Given the description of an element on the screen output the (x, y) to click on. 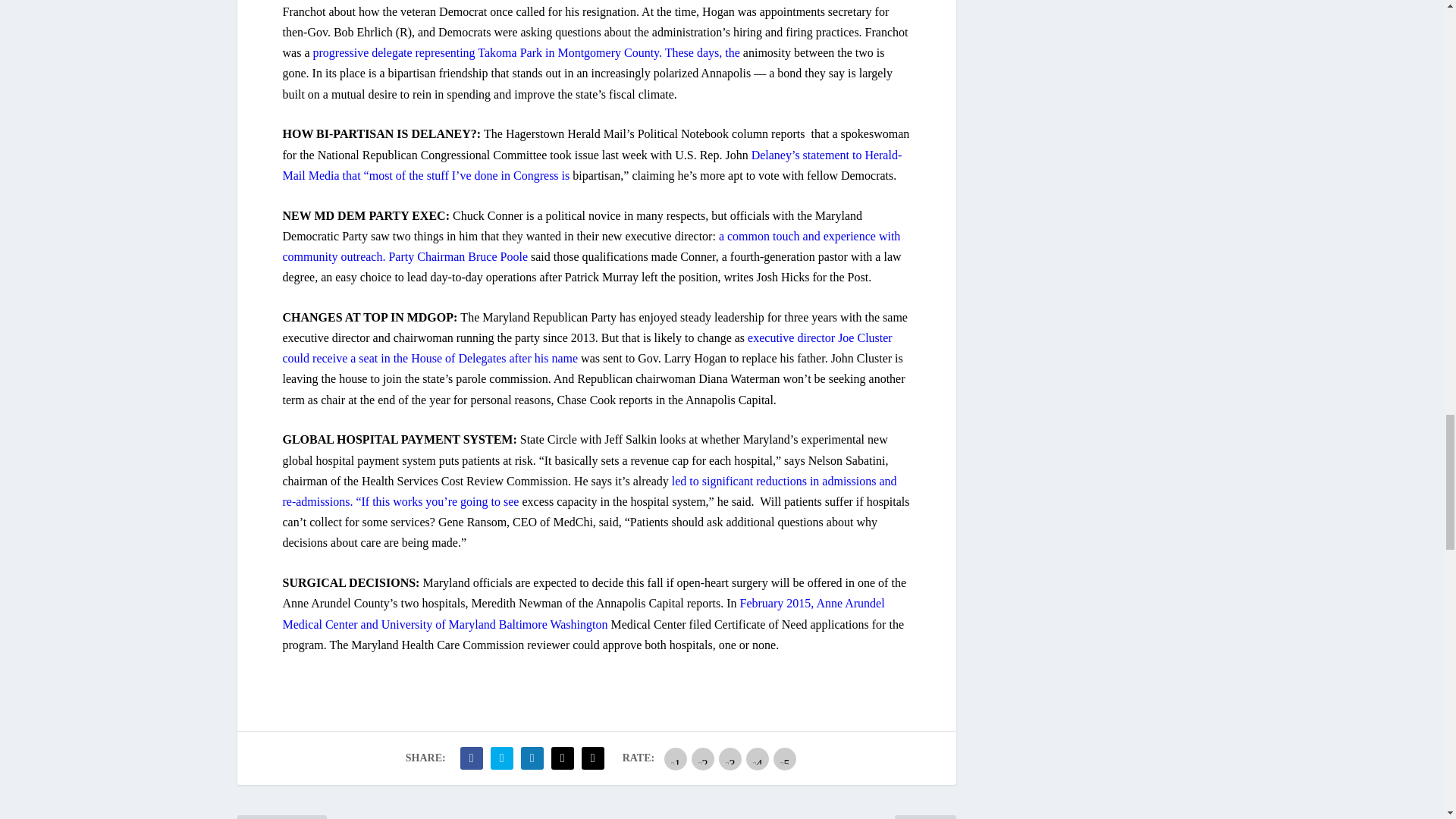
Share "State Roundup, August 15, 2016" via Email (562, 757)
regular (730, 758)
bad (675, 758)
gorgeous (784, 758)
Share "State Roundup, August 15, 2016" via Twitter (501, 757)
Share "State Roundup, August 15, 2016" via LinkedIn (531, 757)
poor (702, 758)
Share "State Roundup, August 15, 2016" via Facebook (471, 757)
Share "State Roundup, August 15, 2016" via Print (593, 757)
good (756, 758)
